Given the description of an element on the screen output the (x, y) to click on. 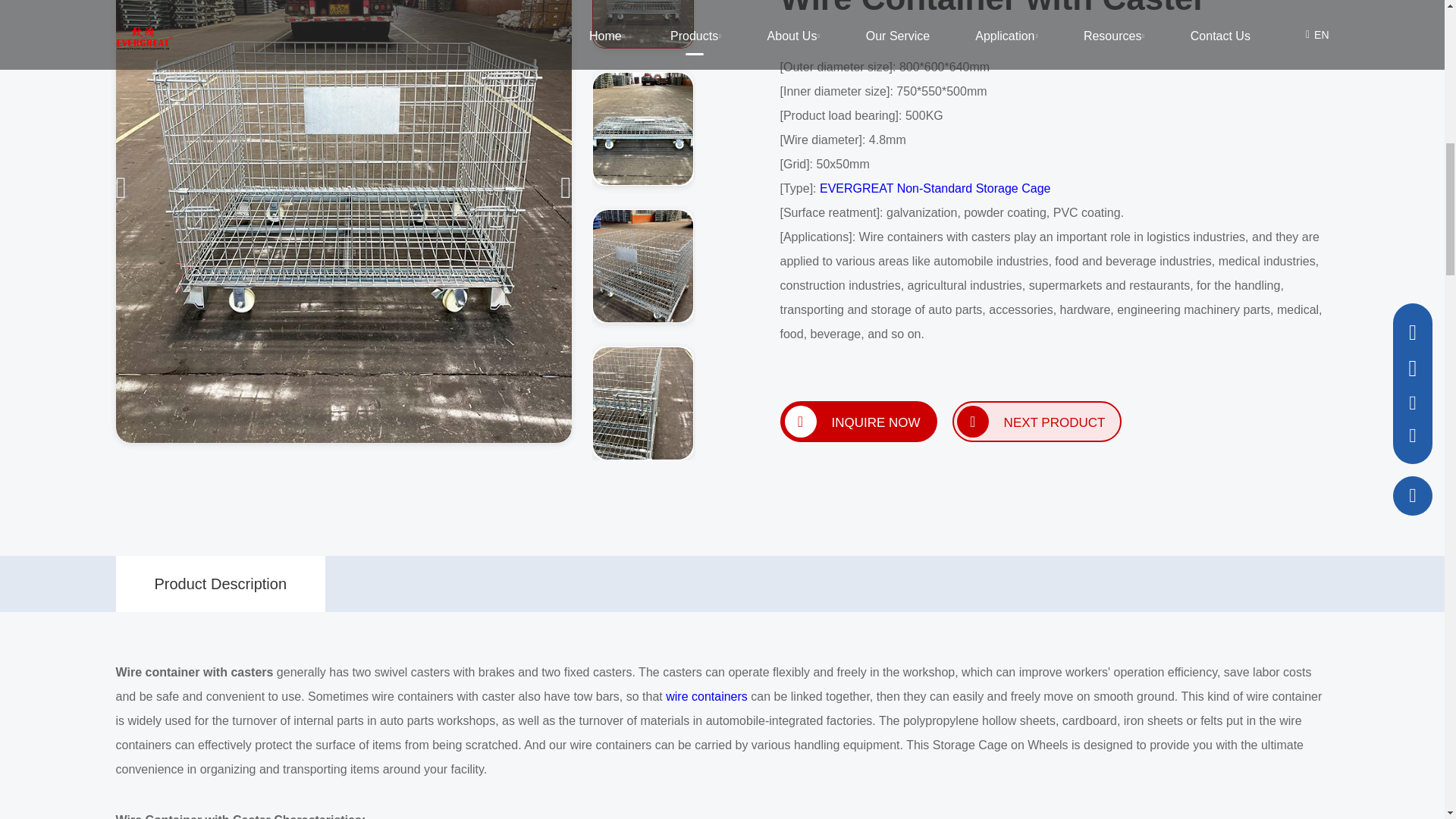
Wire Container with Caster (642, 128)
Wire Container with Caster (642, 265)
Wire Container with Caster (642, 403)
Wire Container with Caster (642, 24)
